Given the description of an element on the screen output the (x, y) to click on. 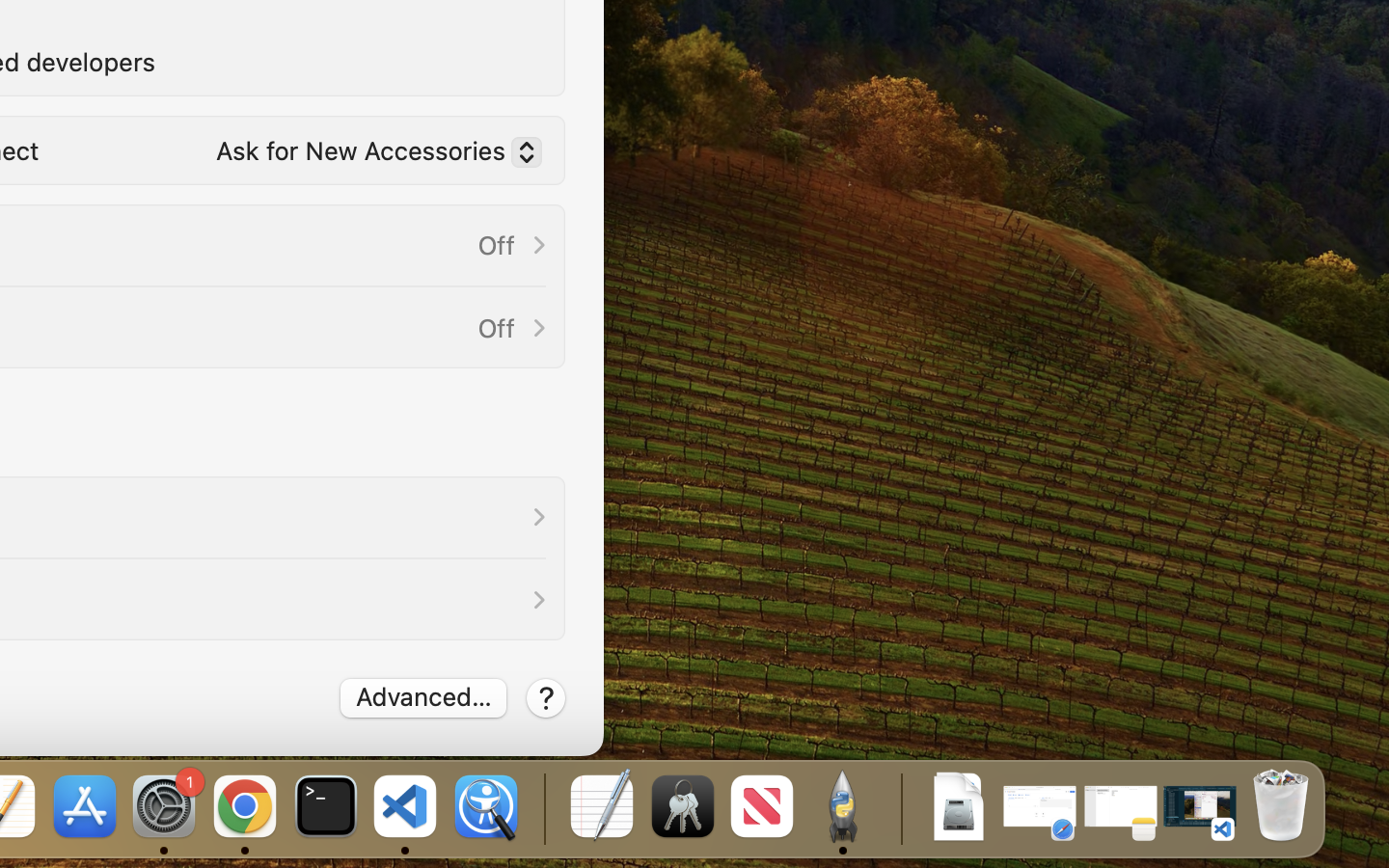
Ask for New Accessories Element type: AXPopUpButton (371, 155)
0.4285714328289032 Element type: AXDockItem (541, 807)
